Given the description of an element on the screen output the (x, y) to click on. 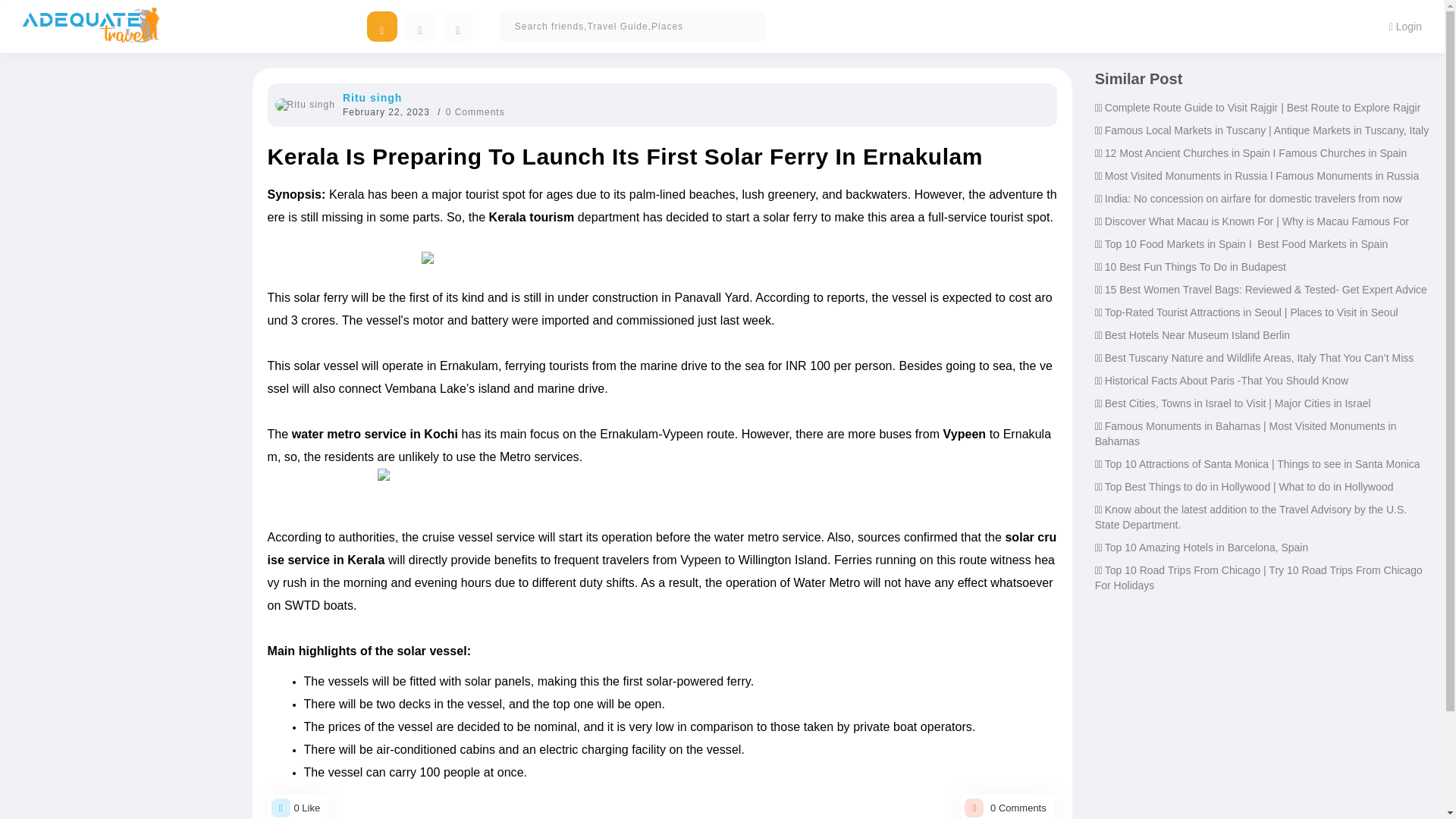
10 Best Fun Things To Do in Budapest (1195, 266)
Login (1404, 26)
Top 10 Food Markets in Spain I  Best Food Markets in Spain (1247, 244)
12 Most Ancient Churches in Spain I Famous Churches in Spain (1255, 152)
Ritu singh (371, 97)
Top 10 Amazing Hotels in Barcelona, Spain (1206, 547)
Historical Facts About Paris -That You Should Know (1226, 380)
Best Hotels Near Museum Island Berlin (1197, 335)
